Given the description of an element on the screen output the (x, y) to click on. 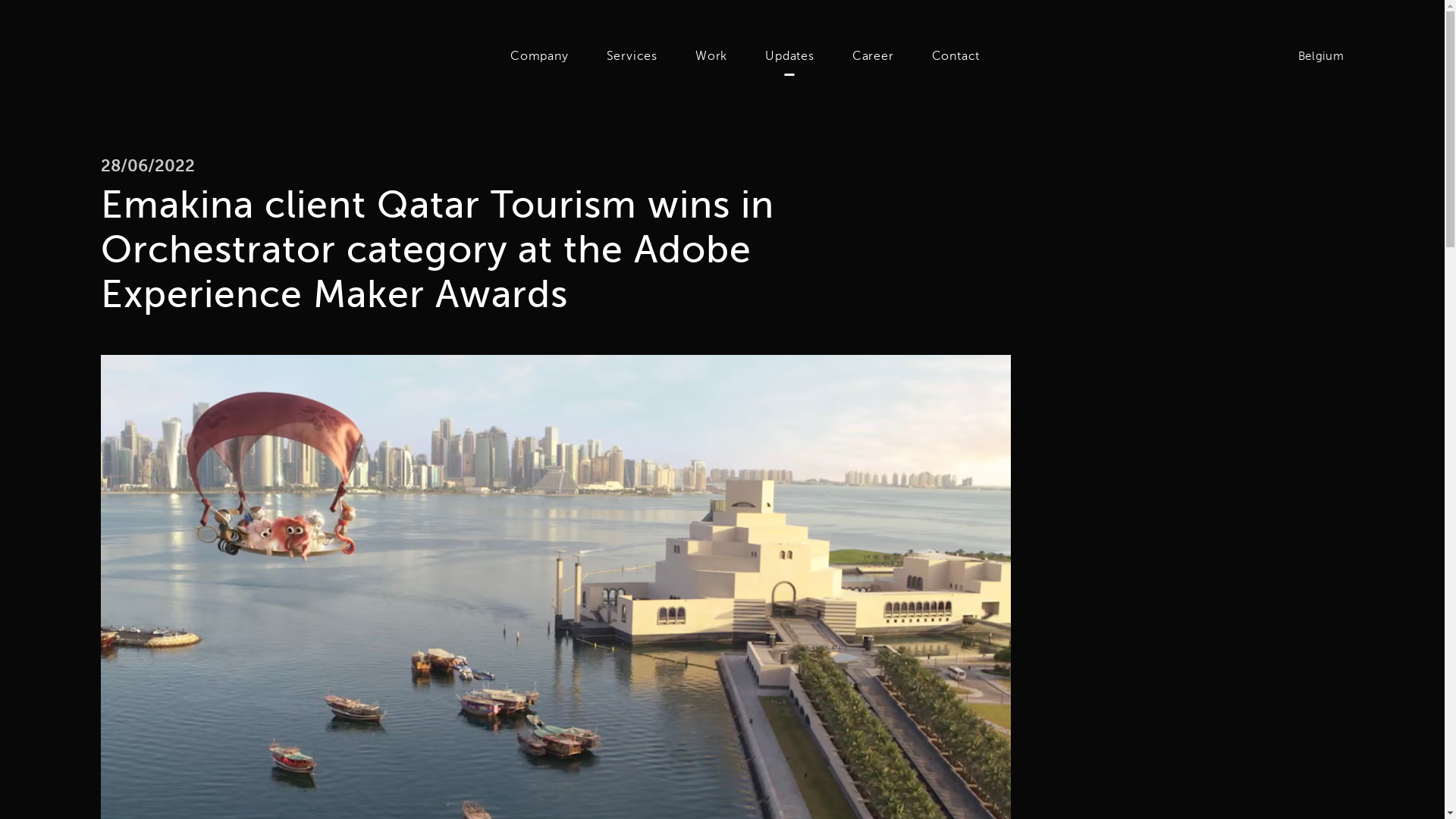
Company (540, 55)
Updates (788, 55)
Work (711, 55)
Career (872, 55)
Contact (955, 55)
Belgium (1313, 55)
Services (632, 55)
